Given the description of an element on the screen output the (x, y) to click on. 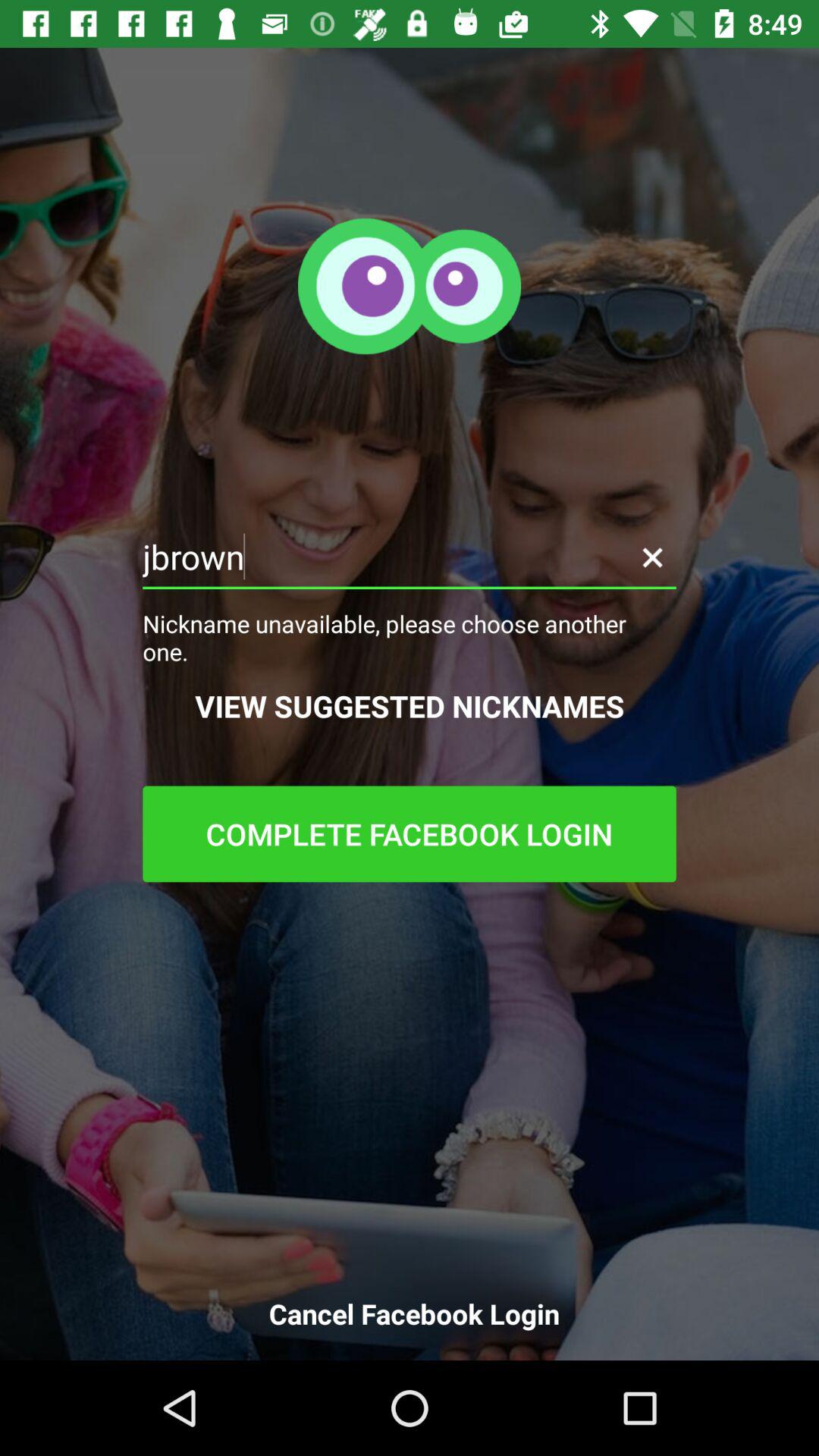
jump to view suggested nicknames icon (409, 705)
